Given the description of an element on the screen output the (x, y) to click on. 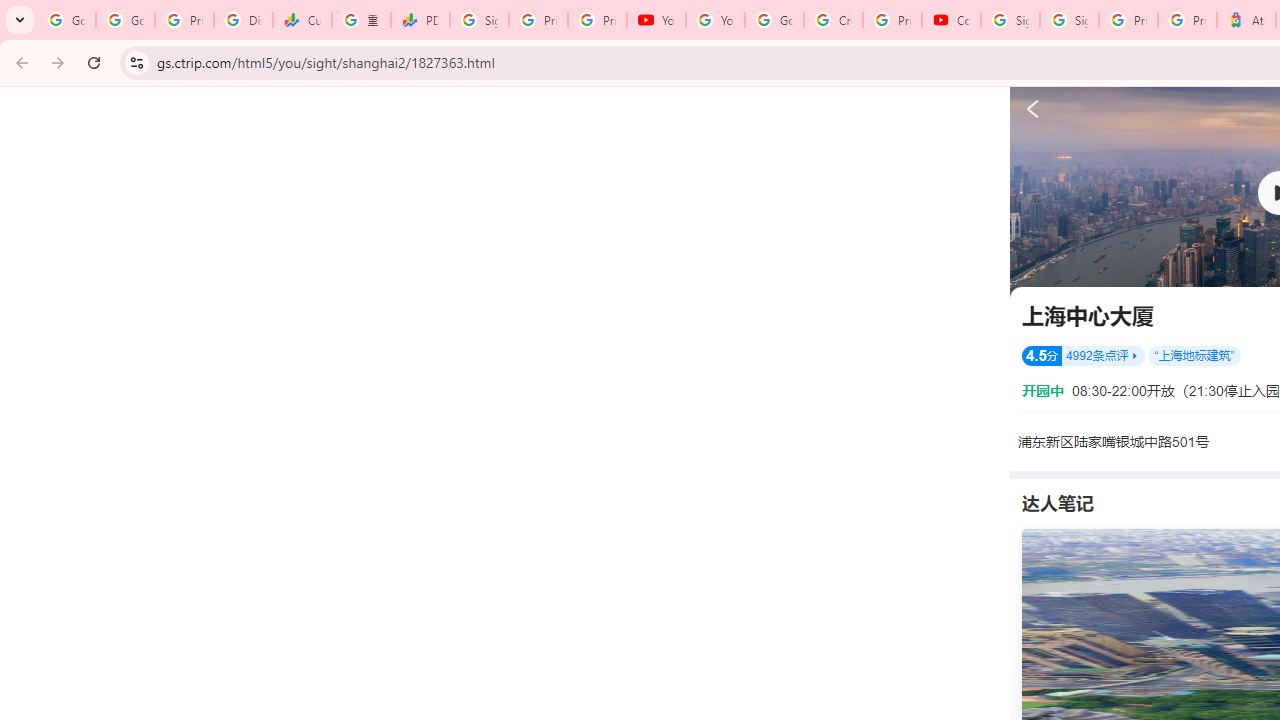
PDD Holdings Inc - ADR (PDD) Price & News - Google Finance (420, 20)
YouTube (656, 20)
YouTube (715, 20)
Currencies - Google Finance (301, 20)
